Given the description of an element on the screen output the (x, y) to click on. 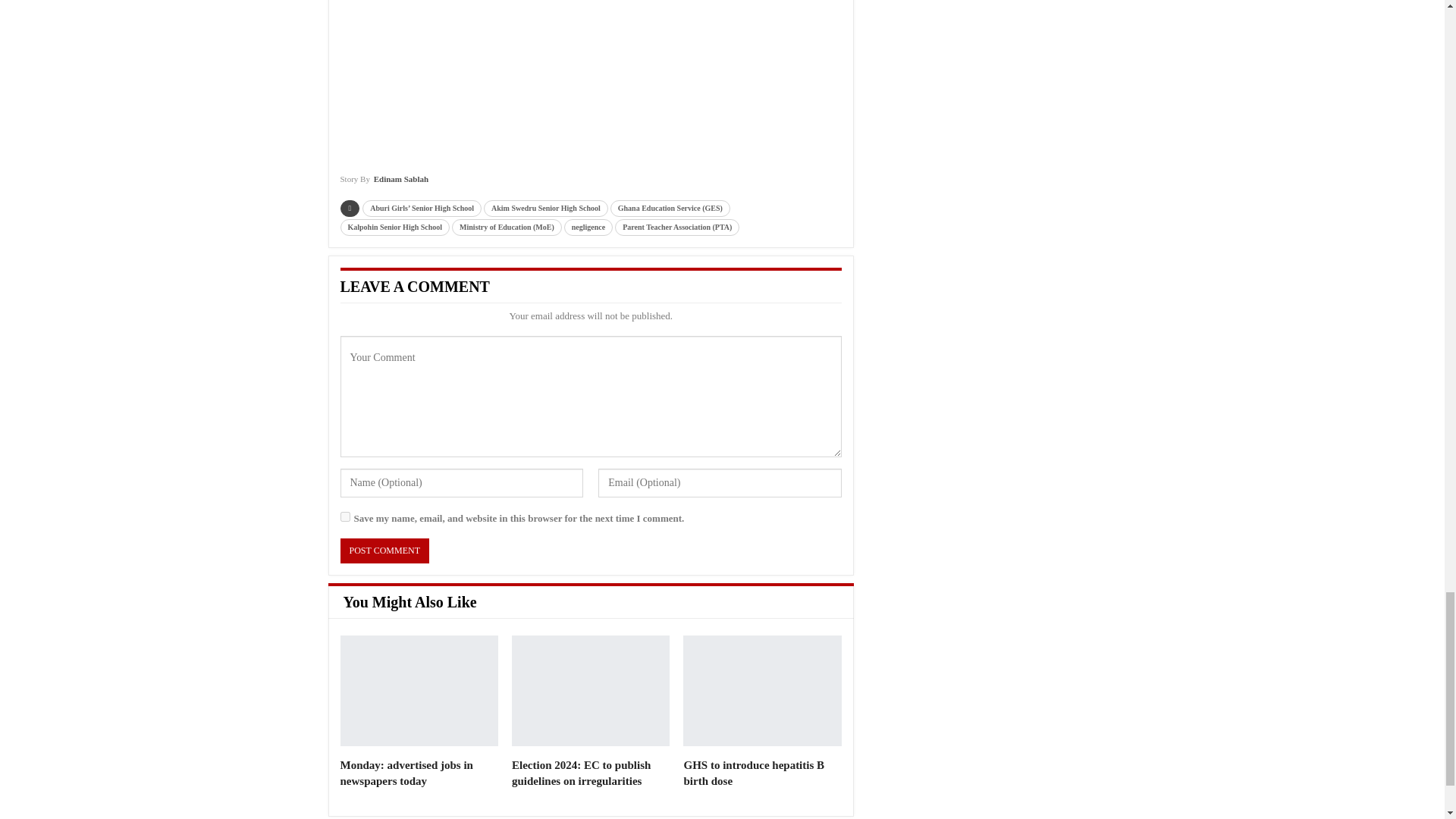
Post Comment (383, 550)
Monday: advertised jobs in newspapers today (418, 690)
Post Comment (383, 550)
Election 2024: EC to publish guidelines on irregularities (581, 773)
Story By Edinam Sablah (383, 183)
Election 2024: EC to publish guidelines on irregularities (590, 690)
GHS to introduce hepatitis B birth dose (761, 690)
negligence (588, 227)
Kalpohin Senior High School (394, 227)
Monday: advertised jobs in newspapers today (405, 773)
